Given the description of an element on the screen output the (x, y) to click on. 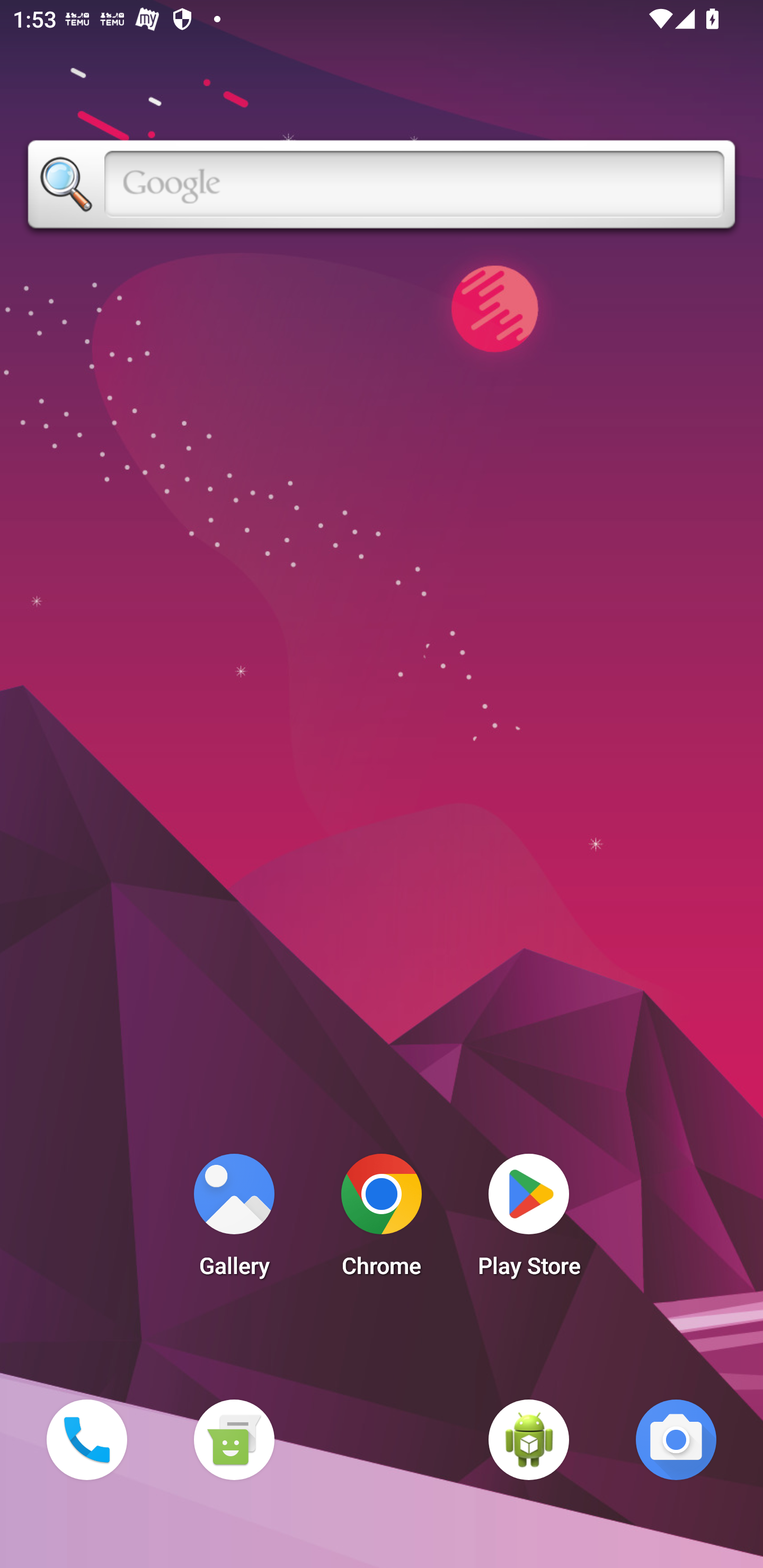
Gallery (233, 1220)
Chrome (381, 1220)
Play Store (528, 1220)
Phone (86, 1439)
Messaging (233, 1439)
WebView Browser Tester (528, 1439)
Camera (676, 1439)
